Given the description of an element on the screen output the (x, y) to click on. 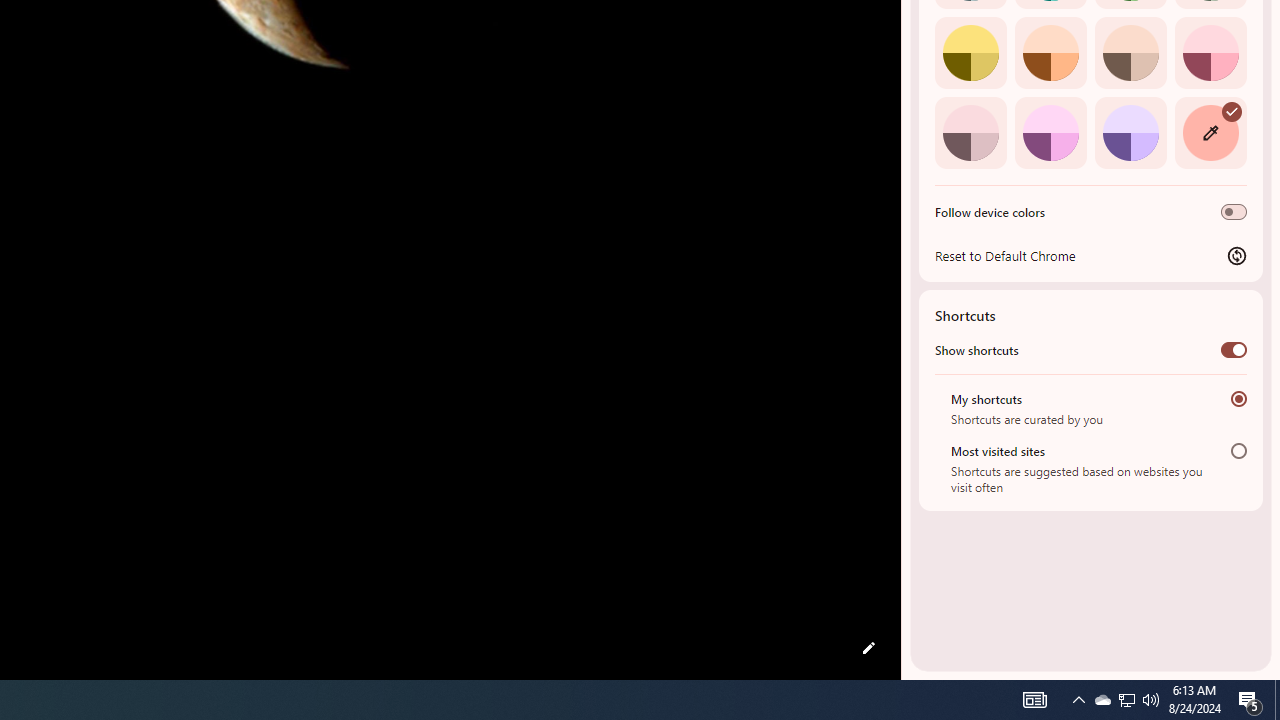
Follow device colors (1233, 211)
Pink (970, 132)
AutomationID: svg (1231, 110)
Fuchsia (1050, 132)
Violet (1130, 132)
My shortcuts (1238, 398)
Customize this page (868, 647)
Reset to Default Chrome (1091, 255)
Show shortcuts (1233, 349)
Most visited sites (1238, 450)
Side Panel Resize Handle (905, 39)
Custom color (1210, 132)
Citron (970, 52)
Rose (1210, 52)
